Given the description of an element on the screen output the (x, y) to click on. 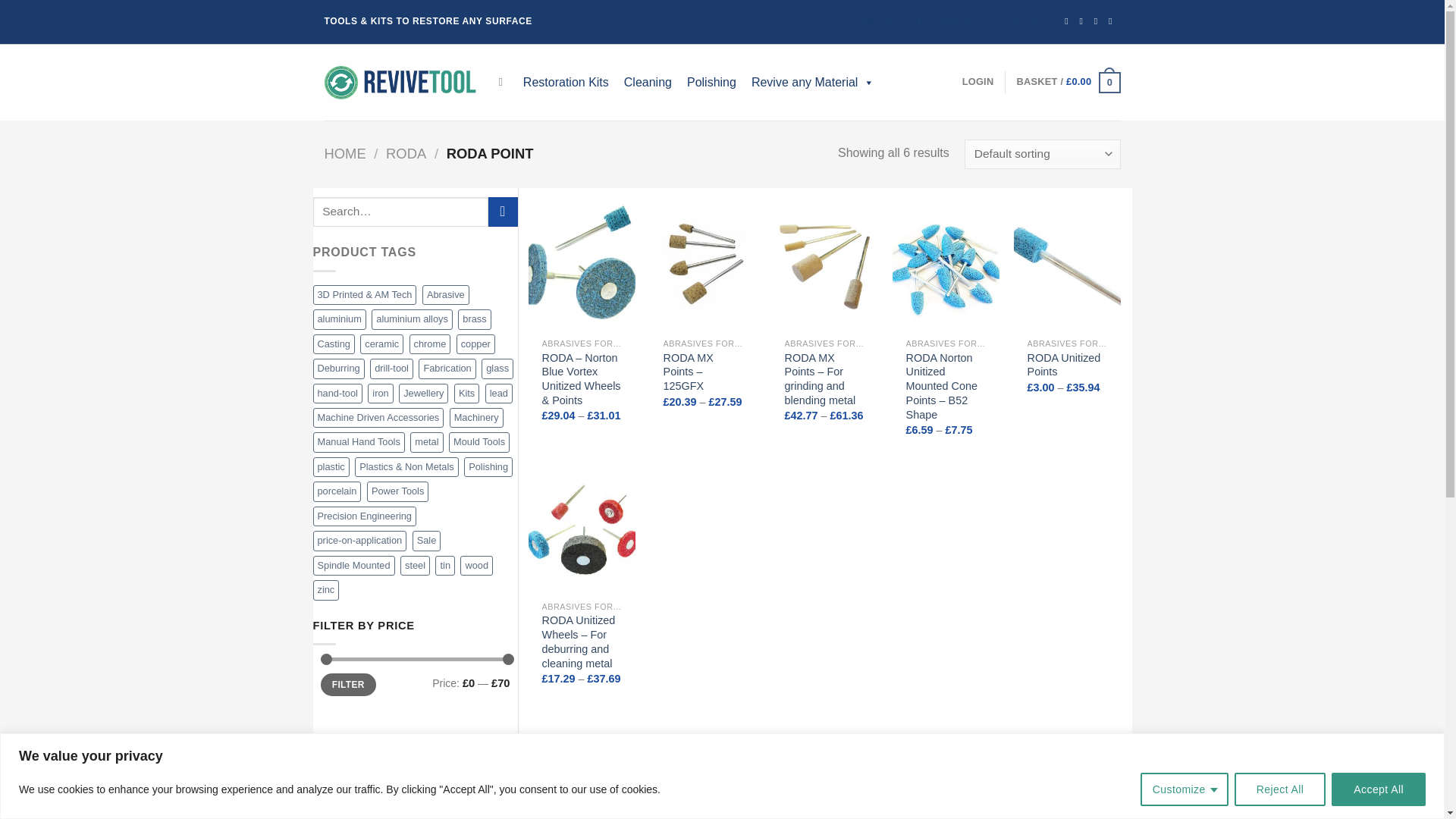
Accept All (1378, 788)
Reject All (1280, 788)
Polishing (711, 82)
Restoration Kits (565, 82)
Revive any Material (813, 82)
Basket (1067, 82)
Cleaning (647, 82)
Customize (1184, 788)
